Given the description of an element on the screen output the (x, y) to click on. 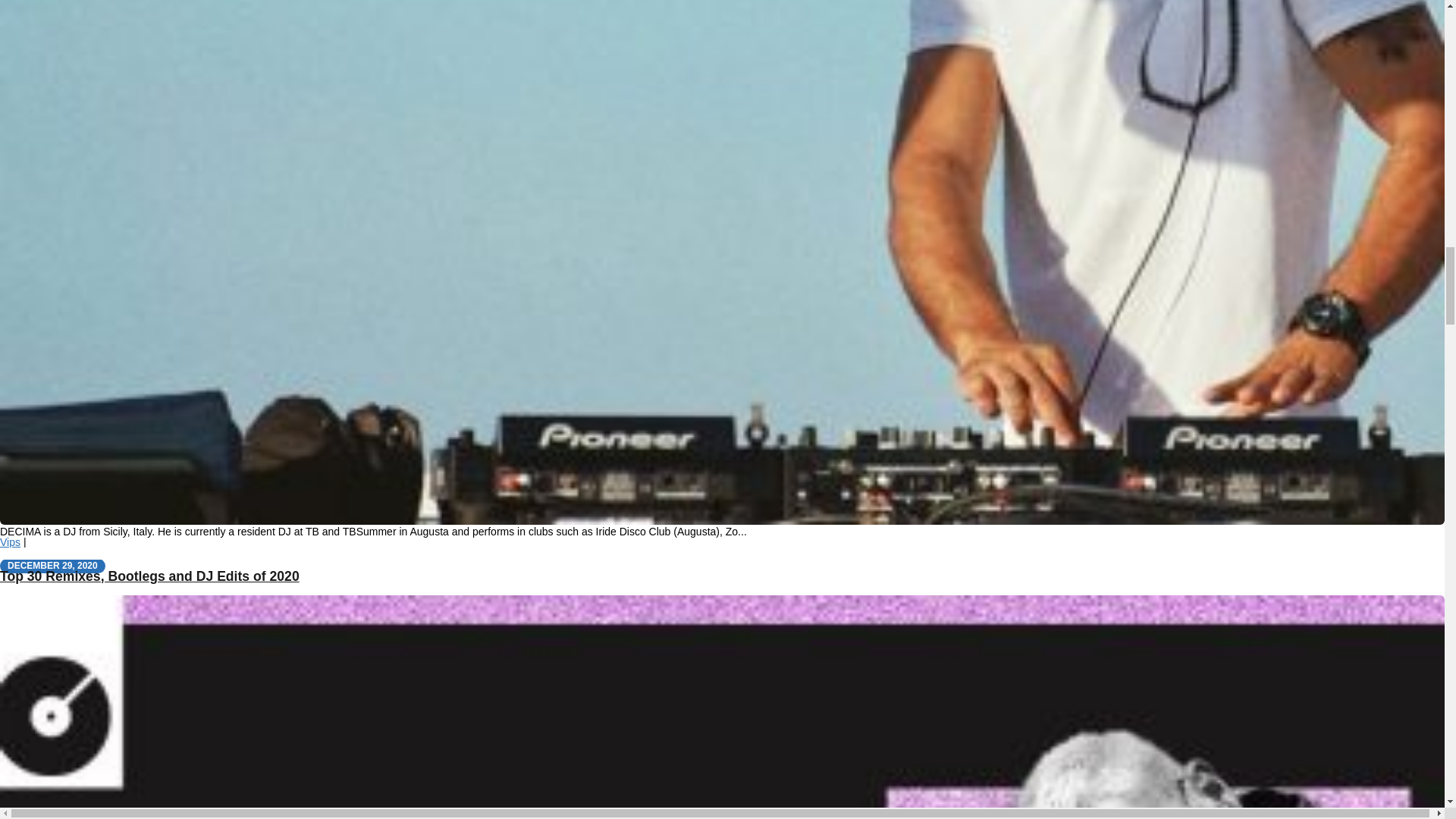
Top 30 Remixes, Bootlegs and DJ Edits of 2020 (149, 575)
Vips (10, 541)
